Given the description of an element on the screen output the (x, y) to click on. 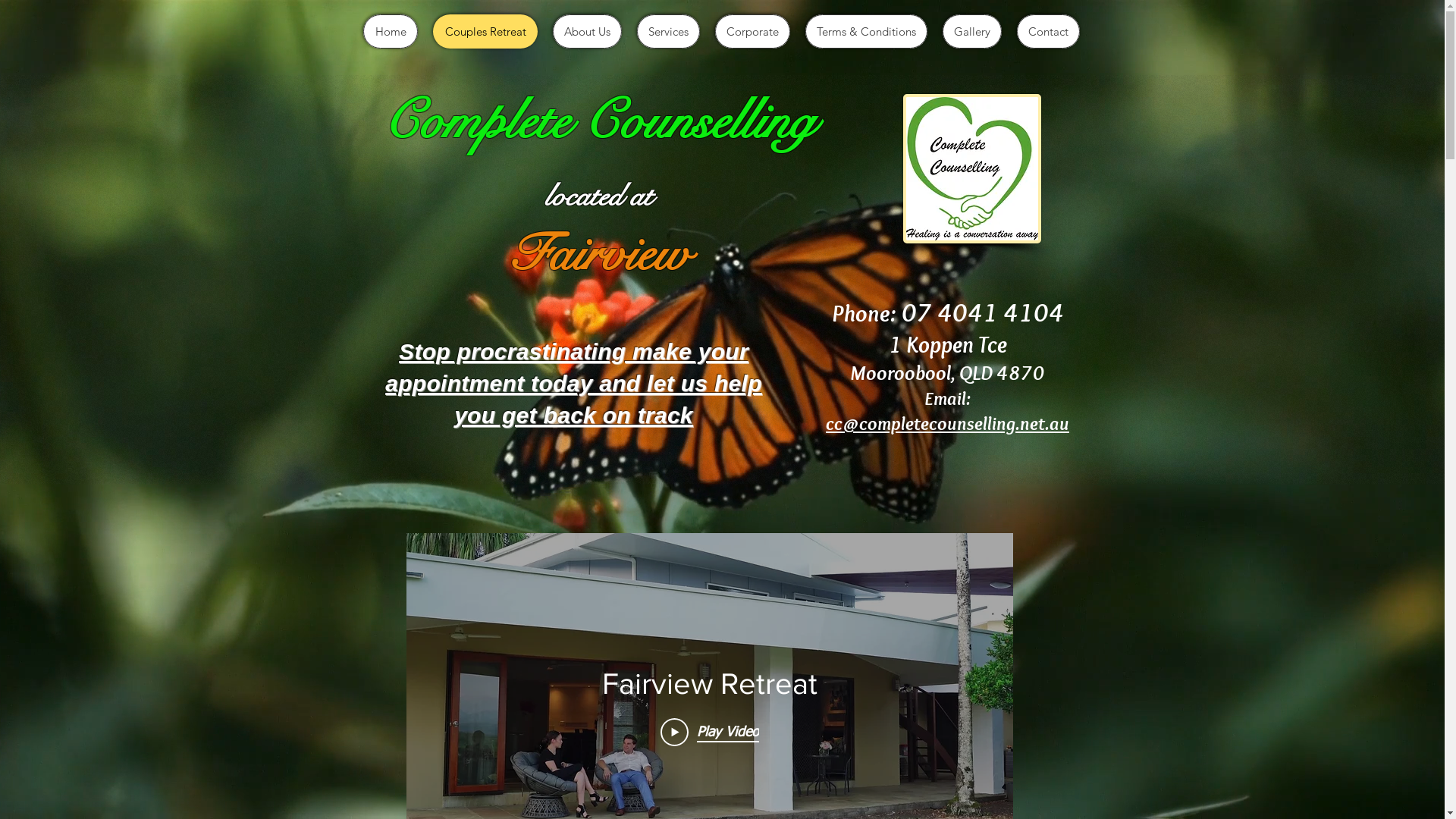
Home Element type: text (390, 31)
Corporate Element type: text (752, 31)
About Us Element type: text (586, 31)
Services Element type: text (668, 31)
Contact Element type: text (1047, 31)
Couples Retreat Element type: text (485, 31)
cc@completecounselling.net.au Element type: text (947, 422)
Gallery Element type: text (971, 31)
Embedded Content Element type: hover (968, 162)
Terms & Conditions Element type: text (866, 31)
